Given the description of an element on the screen output the (x, y) to click on. 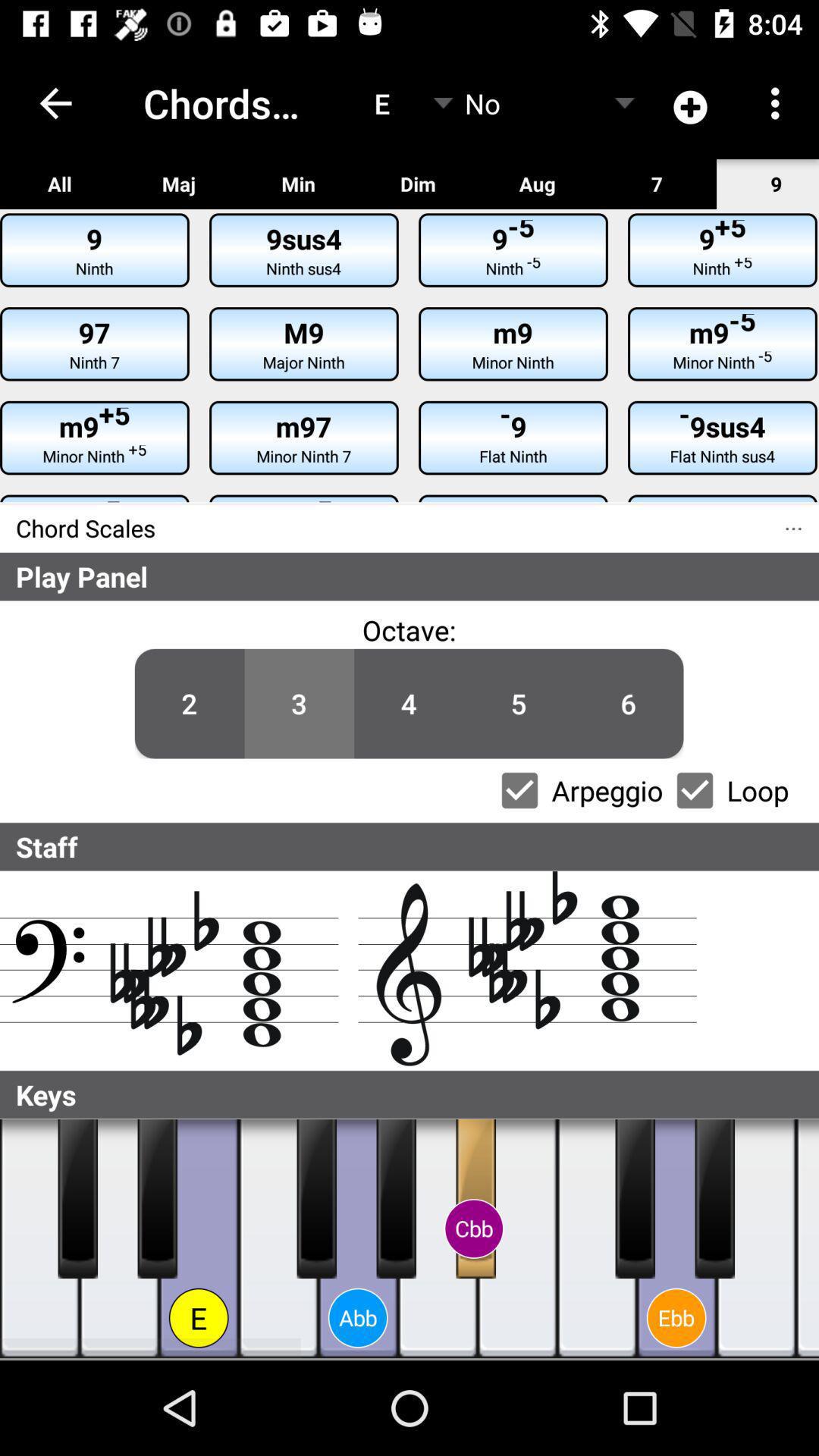
press the icon above the all (55, 103)
